Given the description of an element on the screen output the (x, y) to click on. 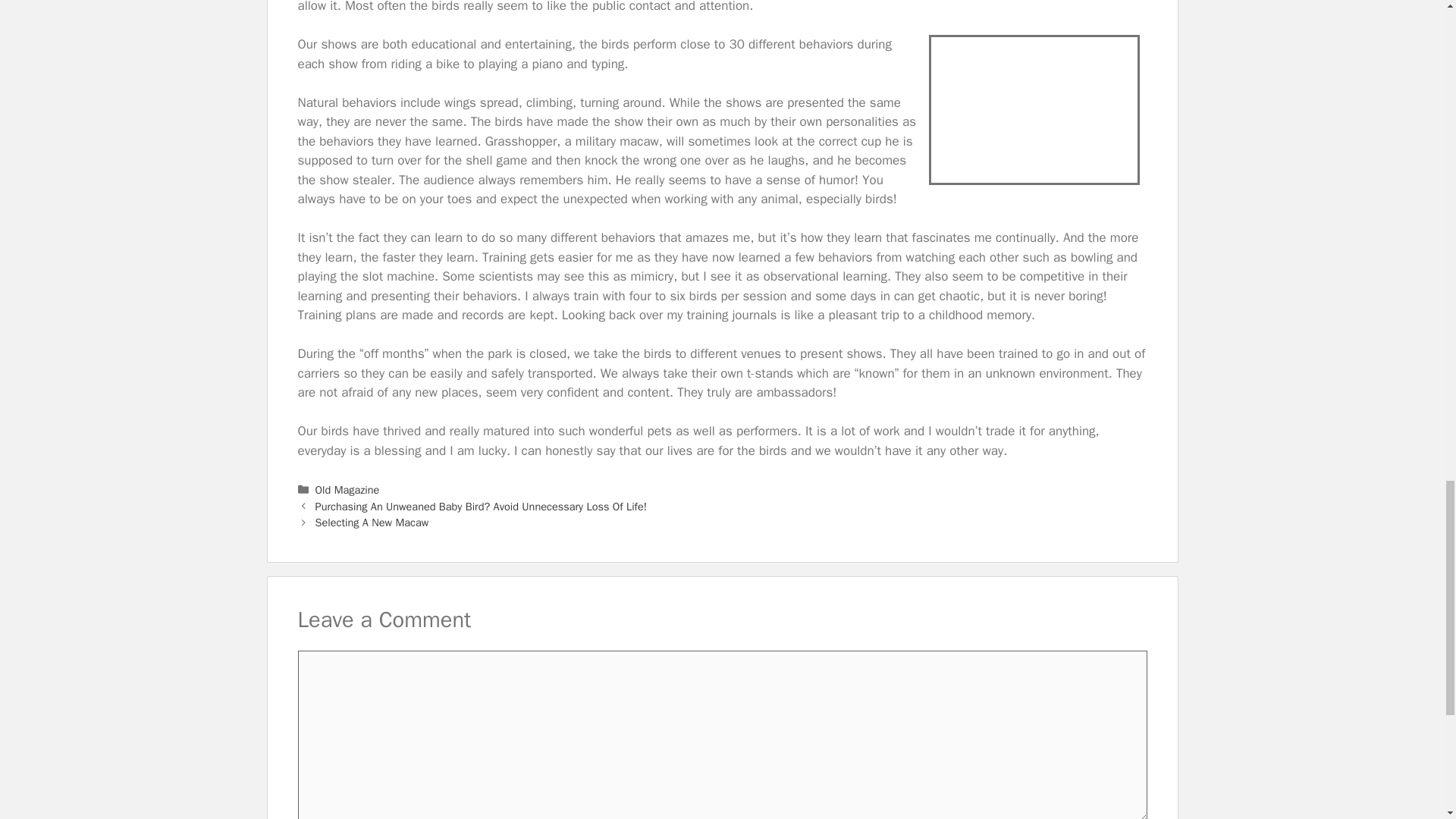
Old Magazine (347, 489)
Selecting A New Macaw (372, 522)
Diary Of A Professional Bird Trainer 3 (1033, 110)
